Given the description of an element on the screen output the (x, y) to click on. 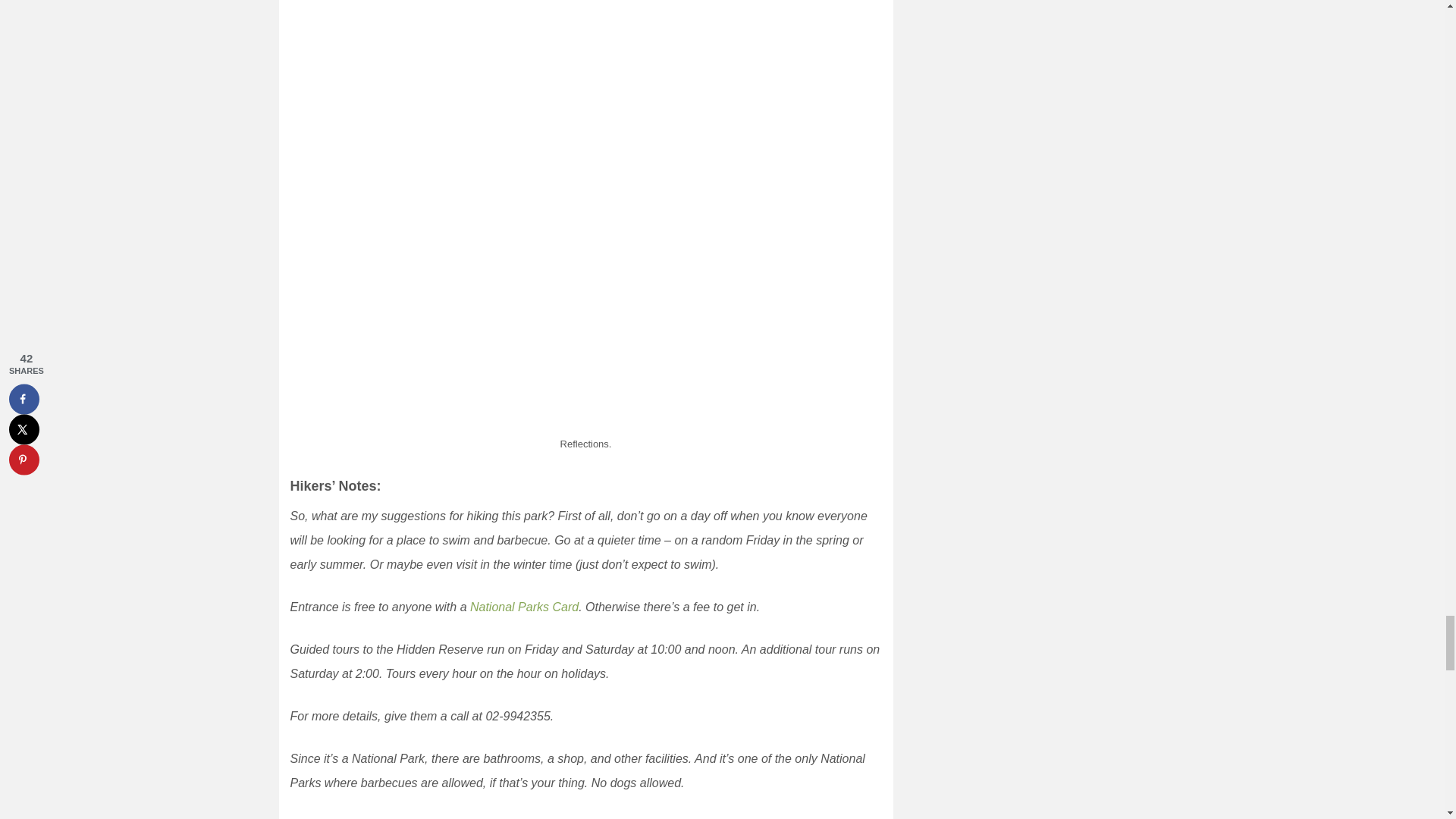
National Parks Card (524, 606)
